Given the description of an element on the screen output the (x, y) to click on. 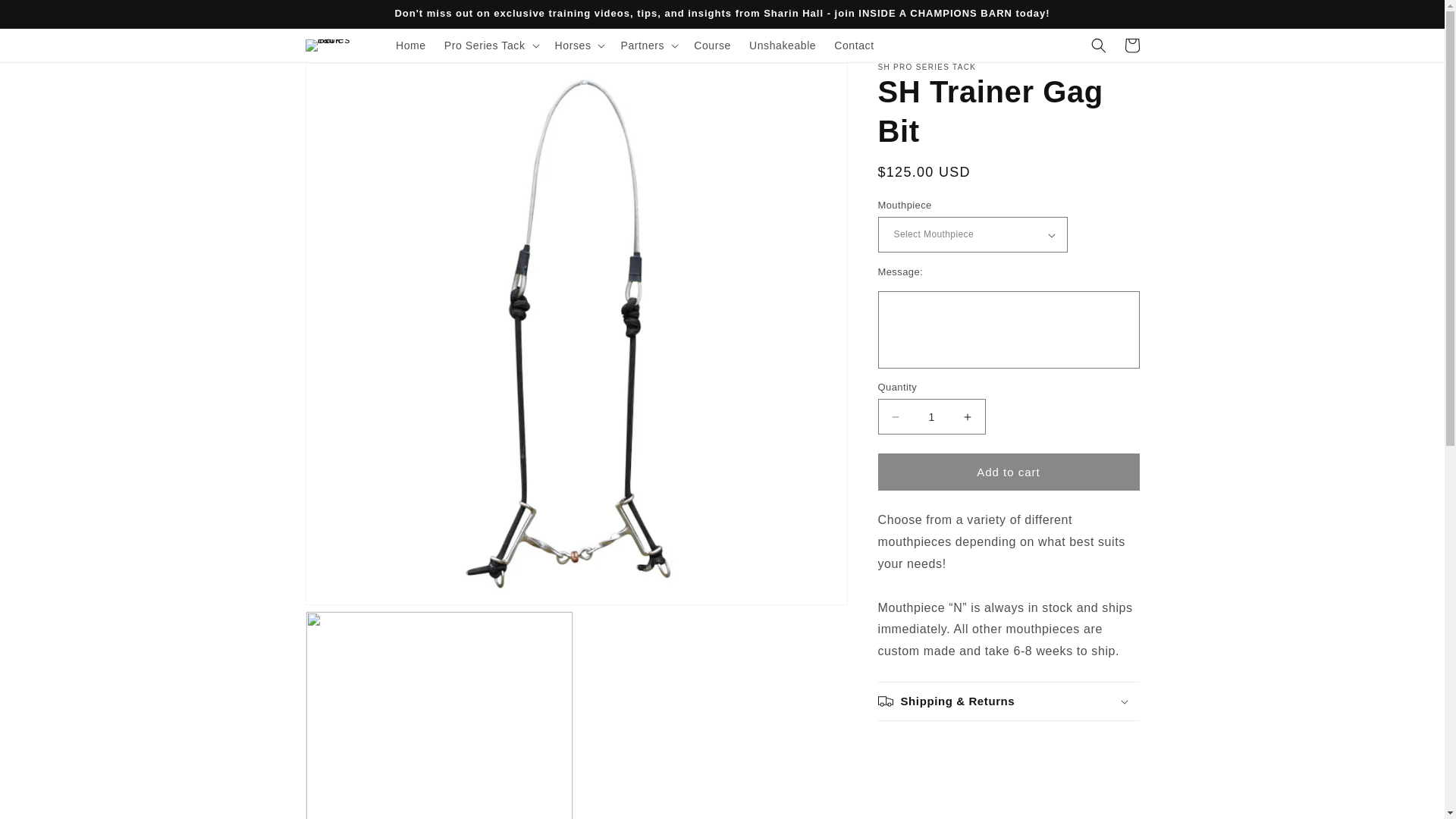
1 (931, 416)
Skip to content (46, 18)
